Given the description of an element on the screen output the (x, y) to click on. 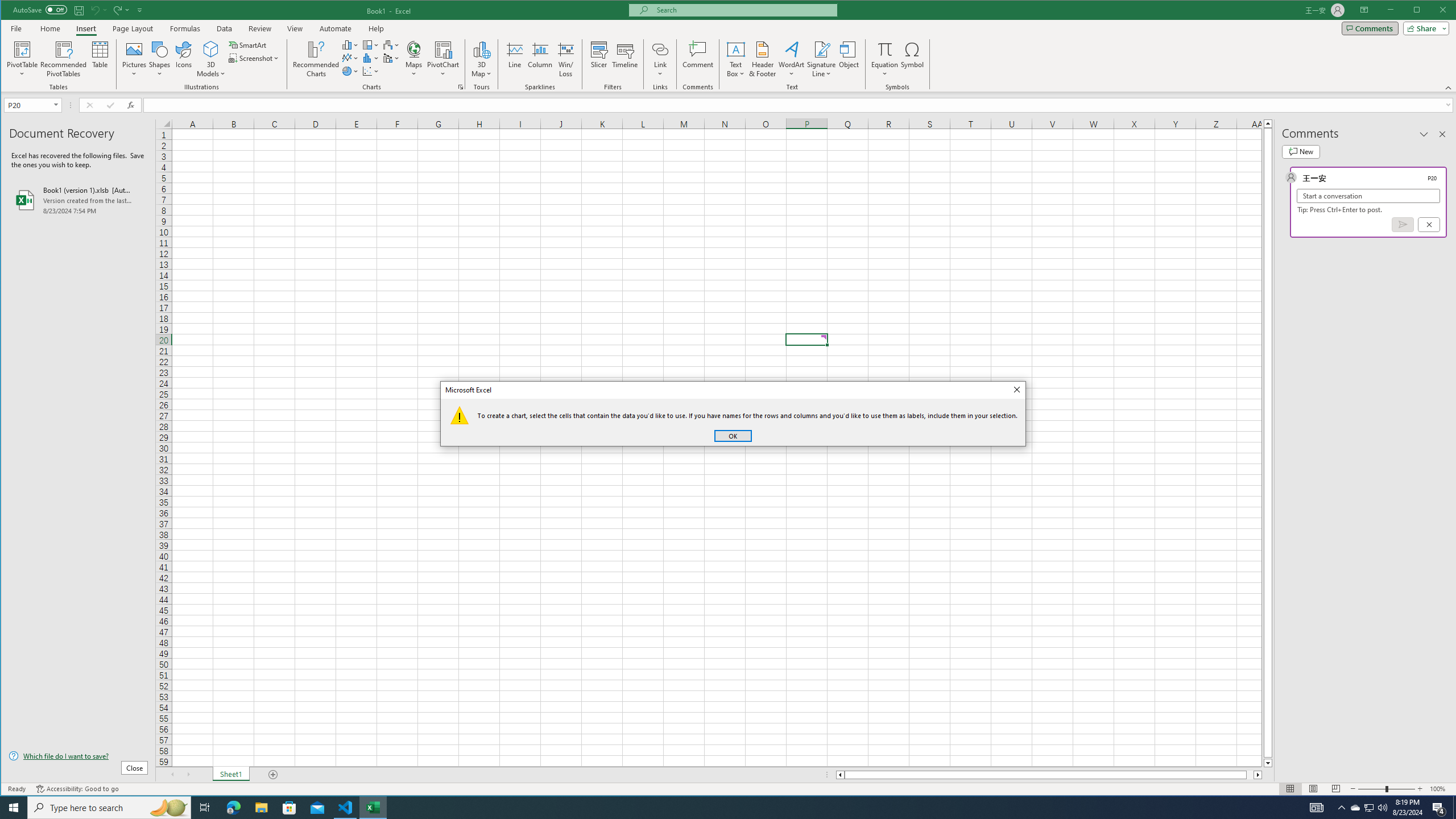
Maps (413, 59)
Recommended Charts (460, 86)
Insert Combo Chart (391, 57)
Draw Horizontal Text Box (735, 48)
3D Models (211, 59)
Pictures (134, 59)
Symbol... (912, 59)
Action Center, 4 new notifications (1439, 807)
Show desktop (1454, 807)
